Given the description of an element on the screen output the (x, y) to click on. 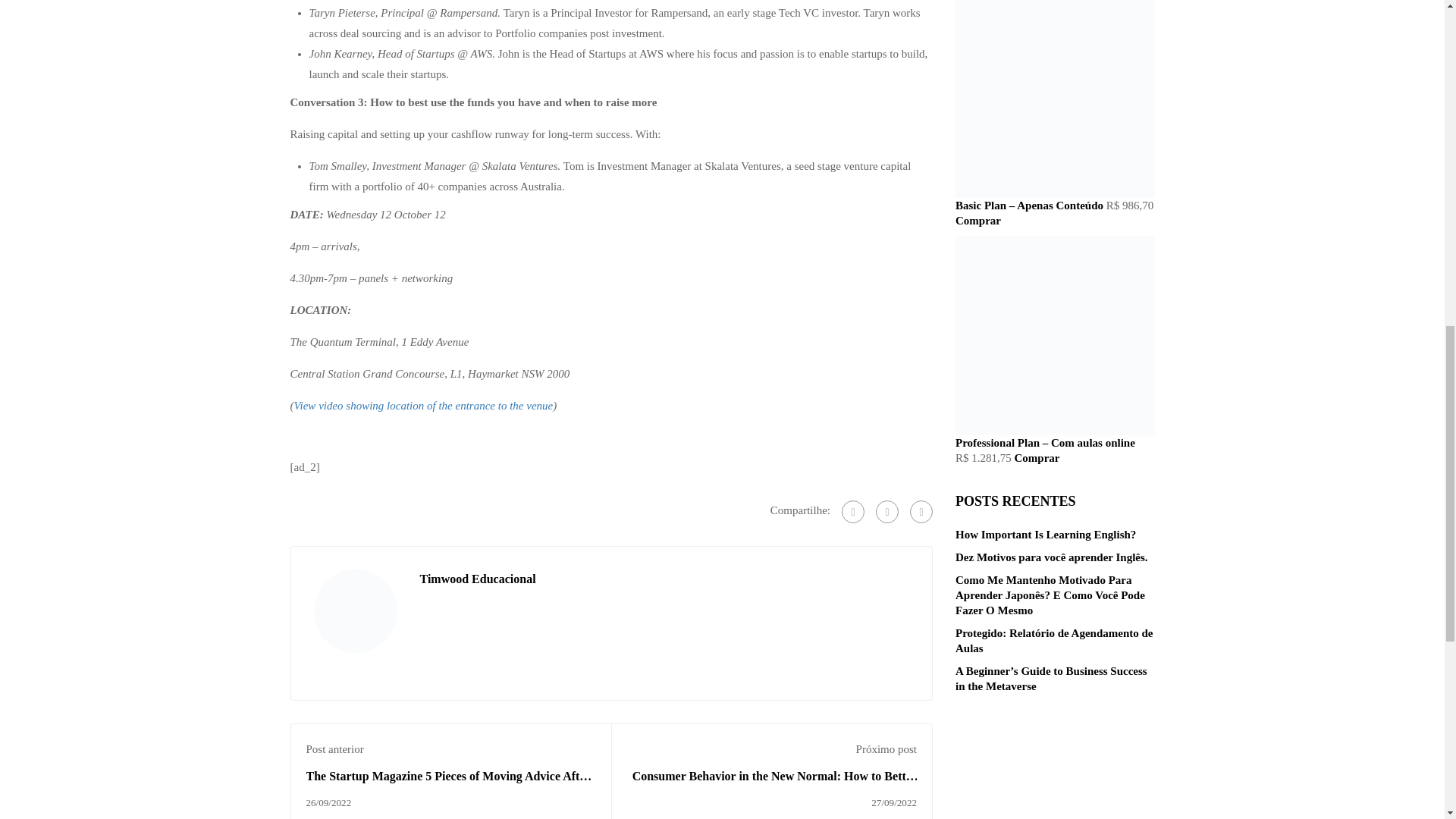
View video showing location of the entrance to the venue (423, 405)
Post anterior (334, 748)
Twitter (887, 511)
Pinterest (921, 511)
Facebook (852, 511)
Timwood Educacional (477, 578)
